Given the description of an element on the screen output the (x, y) to click on. 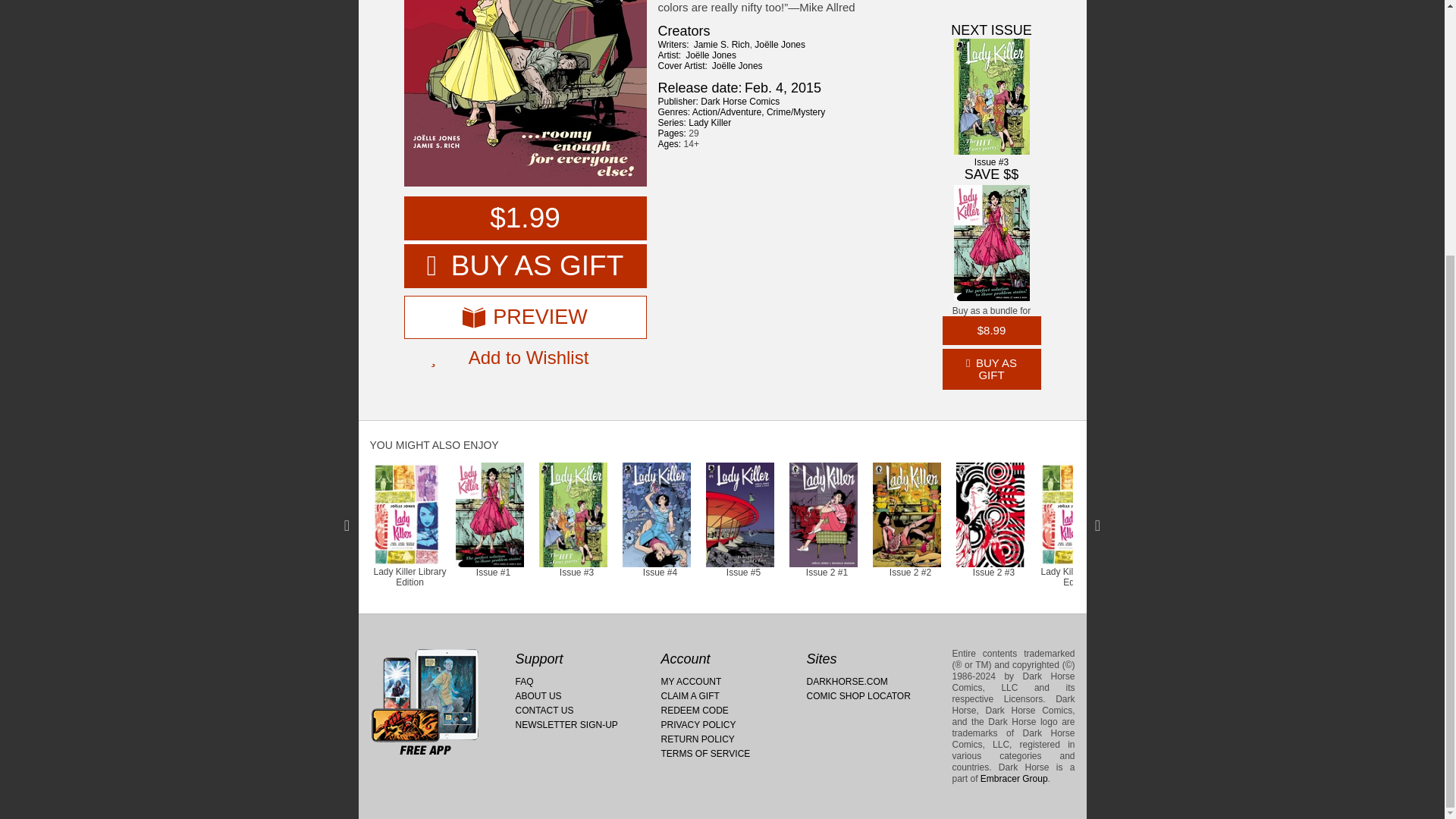
buy book (524, 218)
